Given the description of an element on the screen output the (x, y) to click on. 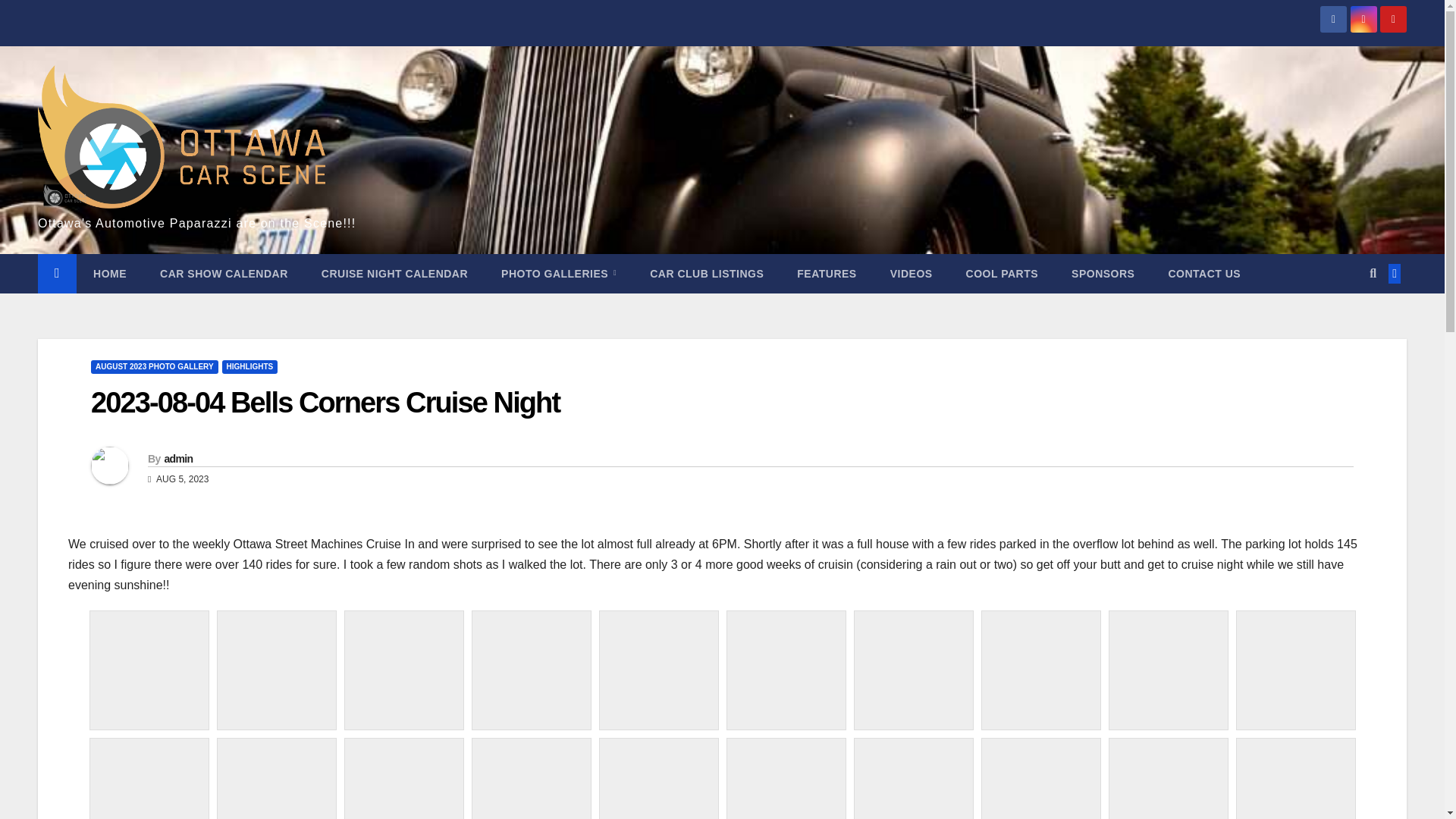
HOME (109, 273)
PHOTO GALLERIES (558, 273)
CAR SHOW CALENDAR (223, 273)
Car Show Calendar (223, 273)
Photo galleries (558, 273)
Cruise Night Calendar (394, 273)
CRUISE NIGHT CALENDAR (394, 273)
Home (109, 273)
